Given the description of an element on the screen output the (x, y) to click on. 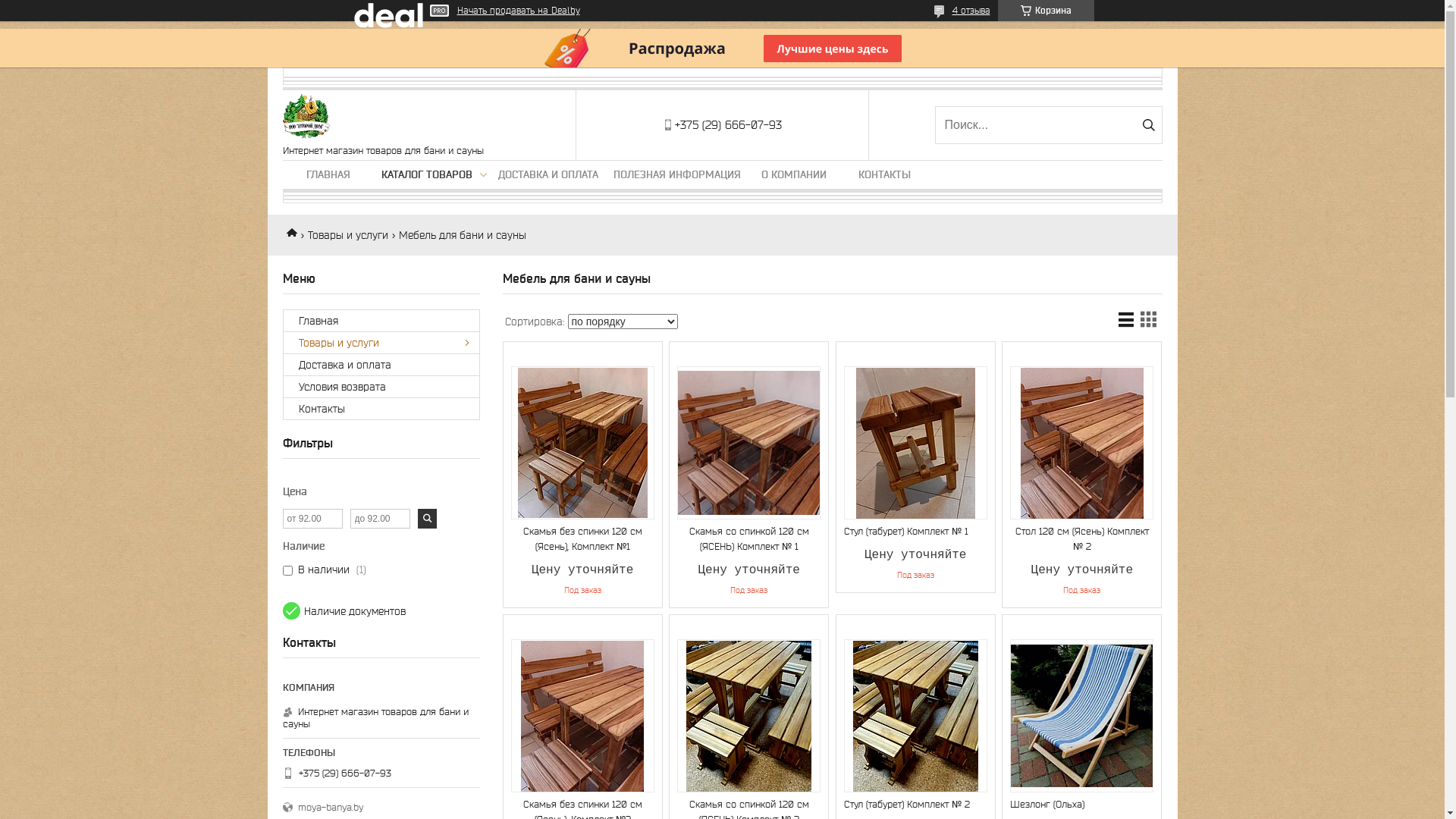
moya-banya.by Element type: text (372, 807)
